Given the description of an element on the screen output the (x, y) to click on. 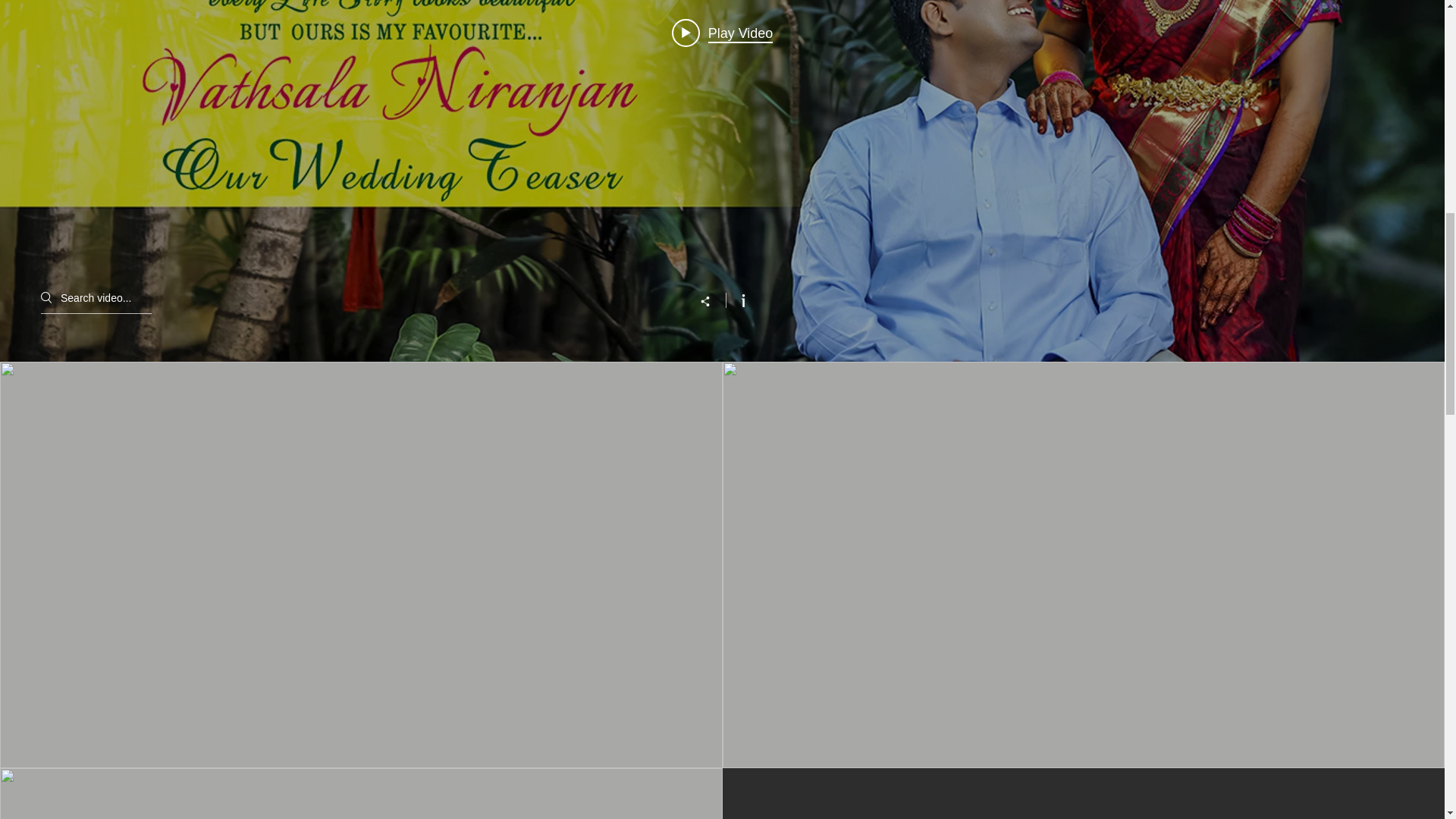
Play Video (722, 32)
